Given the description of an element on the screen output the (x, y) to click on. 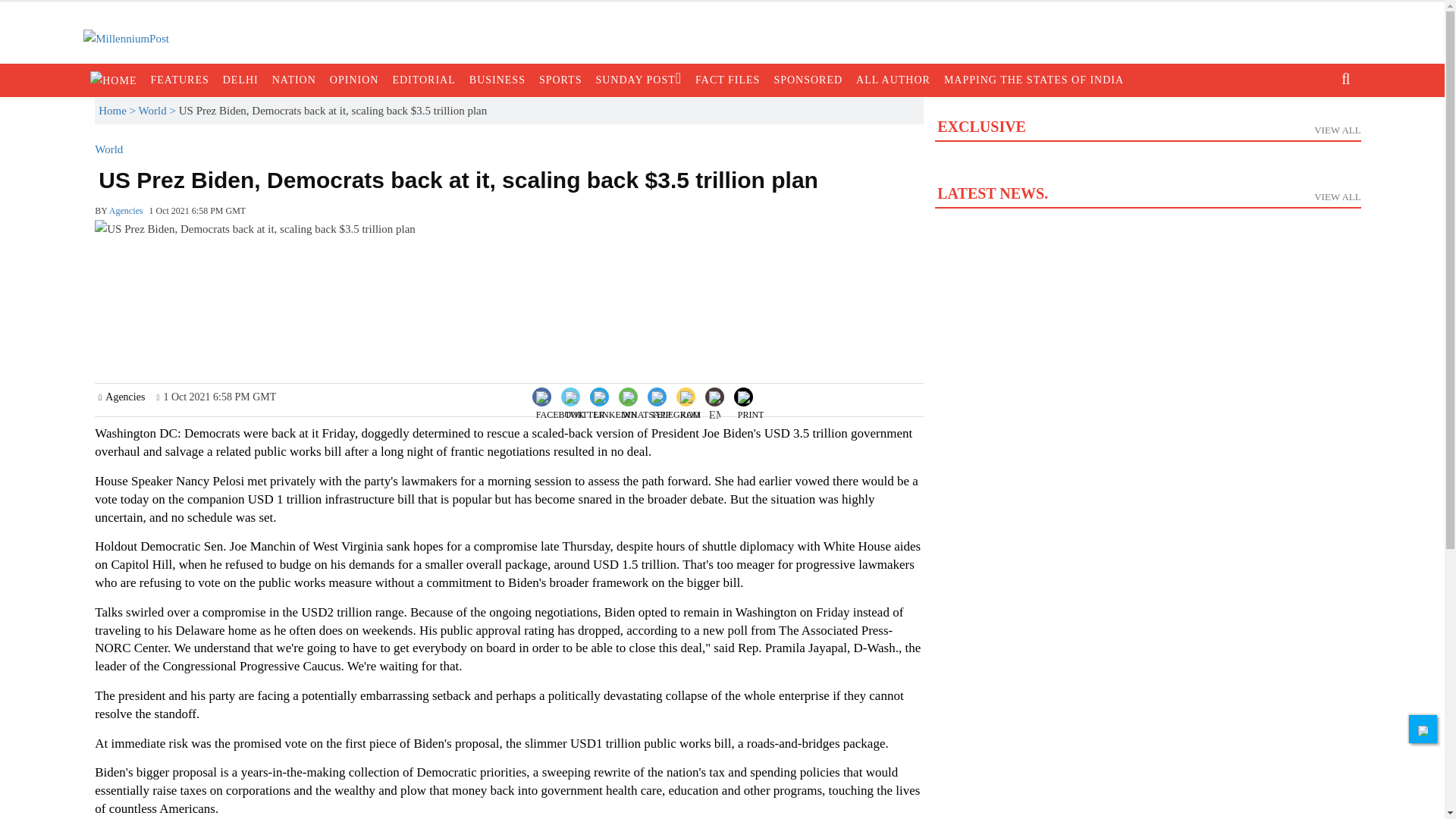
MAPPING THE STATES OF INDIA (1146, 163)
FACT FILES (1034, 79)
LinkedIn (727, 79)
NATION (614, 395)
Share by Email (293, 79)
twitter (713, 398)
linkedin (584, 408)
whatsapp (615, 408)
home (646, 408)
